Given the description of an element on the screen output the (x, y) to click on. 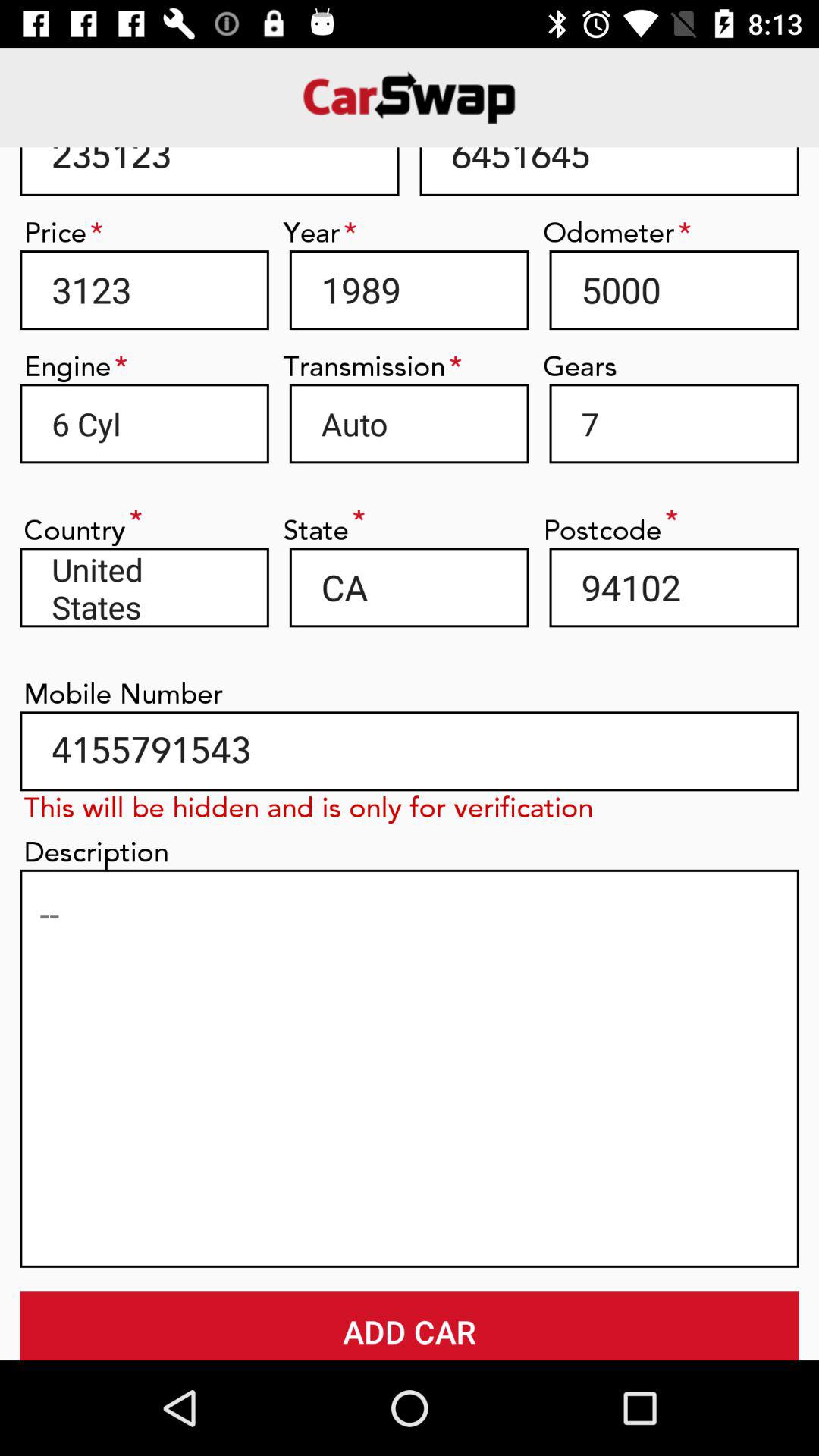
choose icon below odometer icon (674, 289)
